Given the description of an element on the screen output the (x, y) to click on. 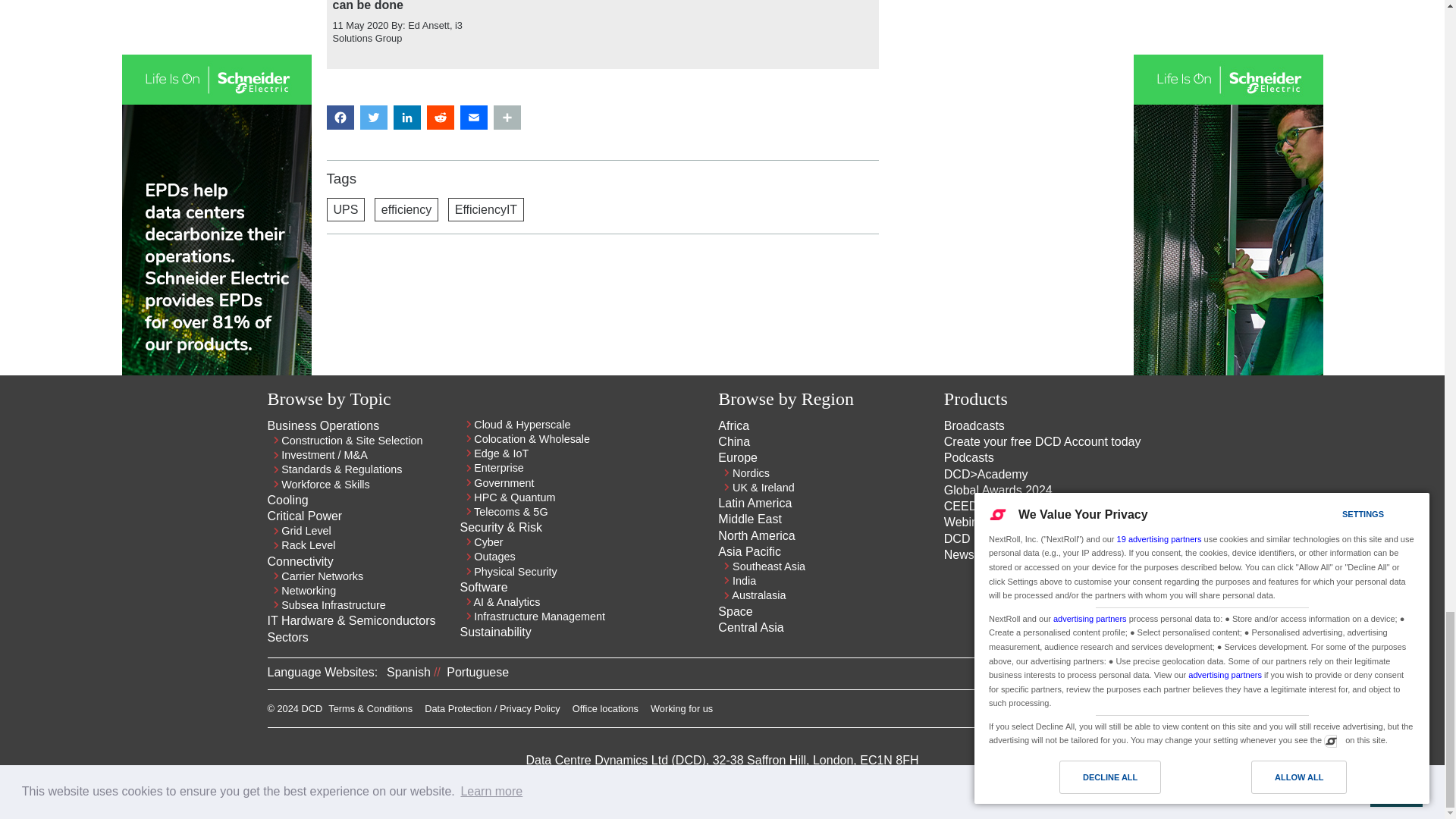
Linkedin (1113, 712)
3rd party ad content (601, 298)
UPS efficiency EfficiencyIT (601, 209)
Facebook (1167, 712)
Twitter (1140, 712)
